Given the description of an element on the screen output the (x, y) to click on. 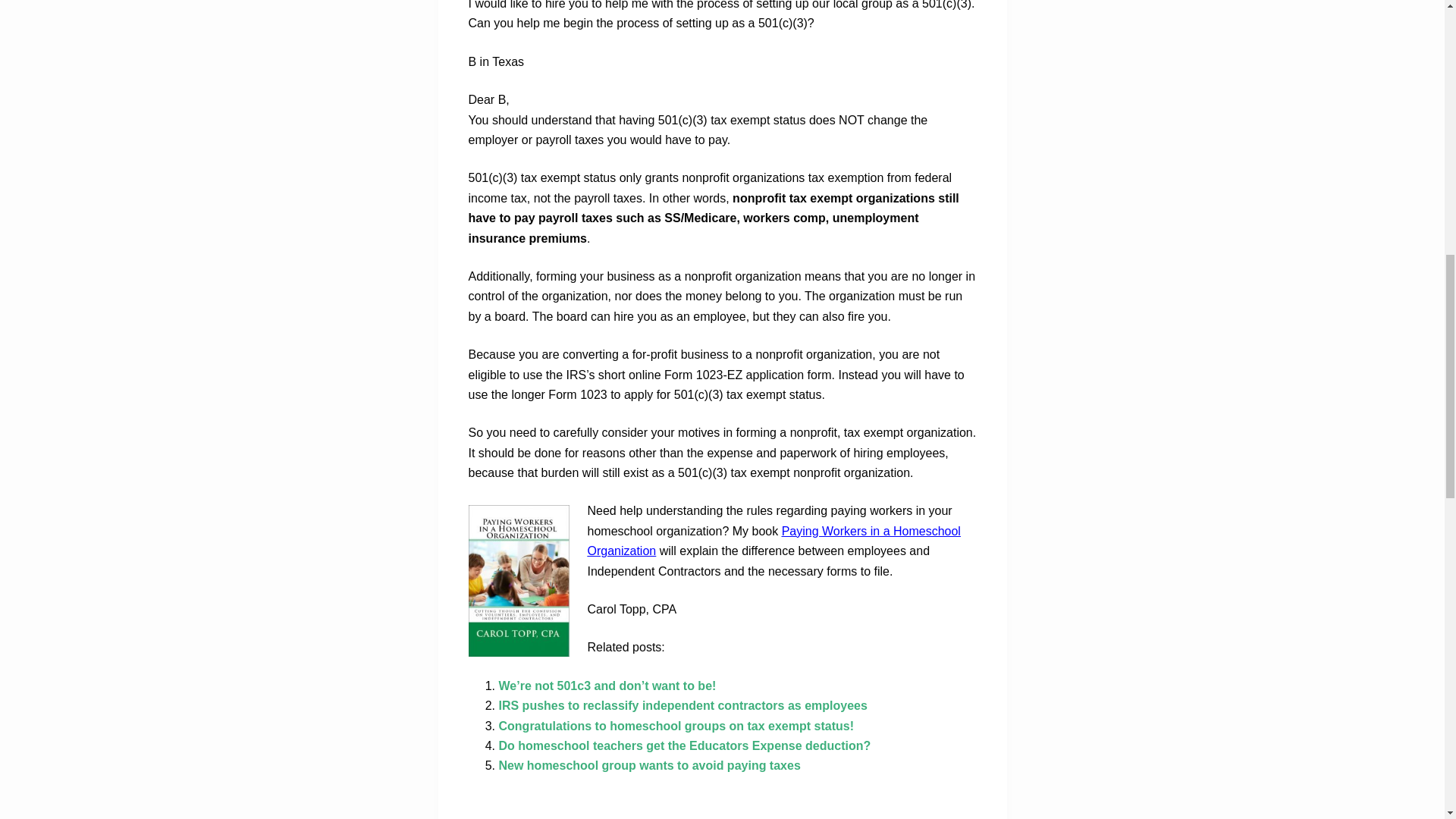
Congratulations to homeschool groups on tax exempt status! (676, 725)
Paying Workers in a Homeschool Organization (772, 540)
Click here! (772, 540)
New homeschool group wants to avoid paying taxes (649, 765)
Do homeschool teachers get the Educators Expense deduction? (684, 745)
